Given the description of an element on the screen output the (x, y) to click on. 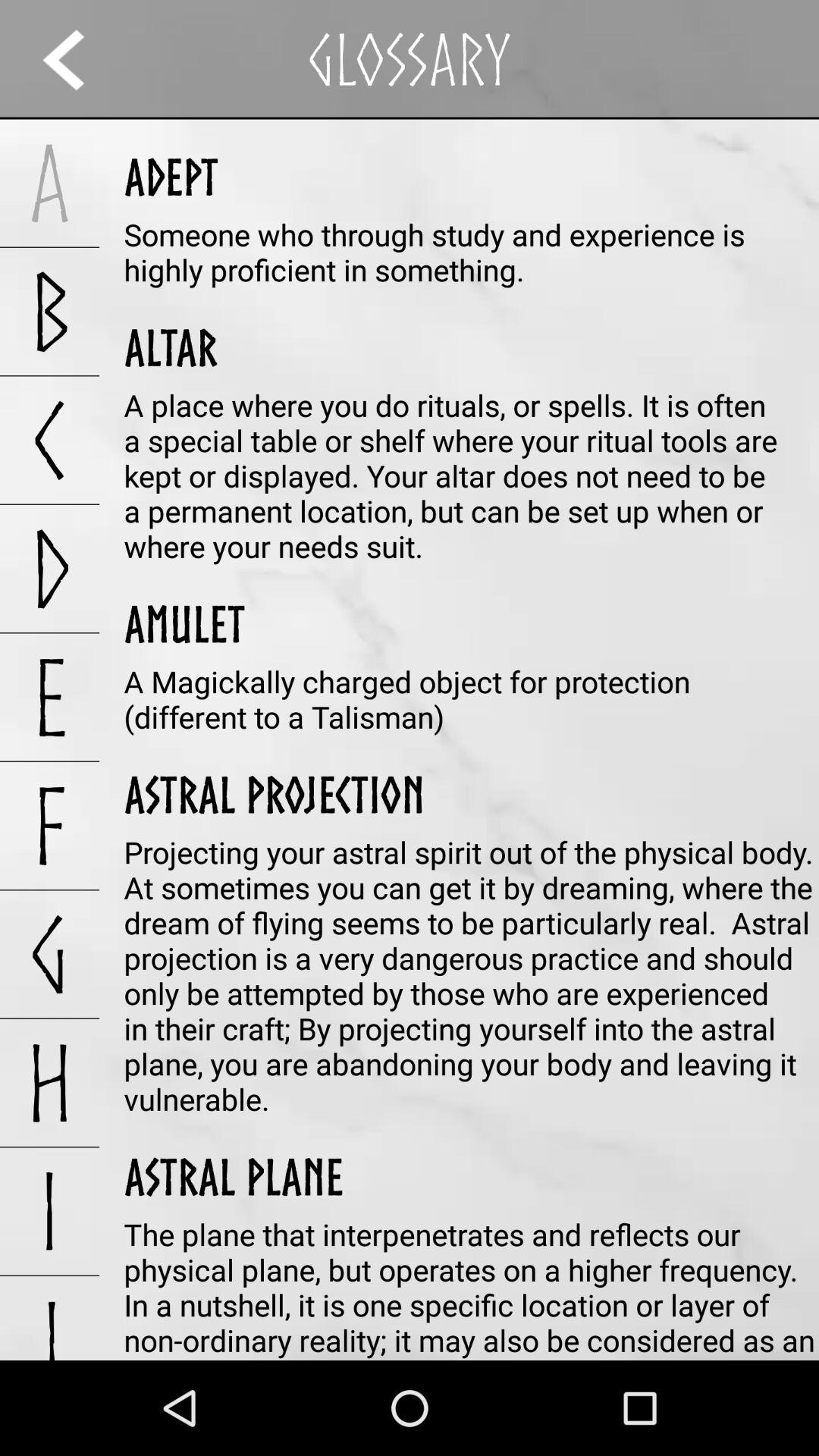
select app below the altar app (471, 475)
